Given the description of an element on the screen output the (x, y) to click on. 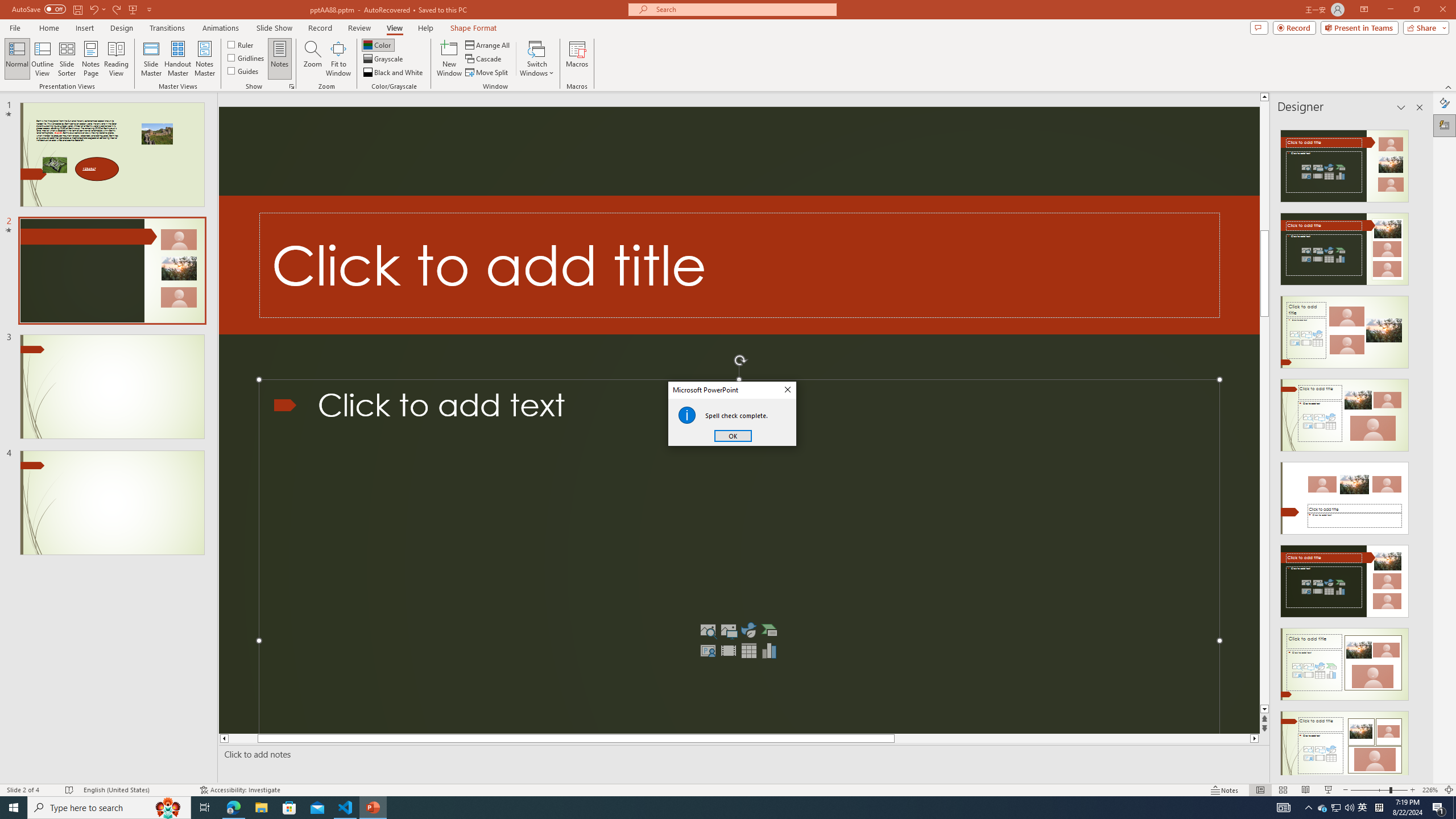
Zoom 226% (1430, 790)
Fit to Window (338, 58)
Notes Page (90, 58)
Color (377, 44)
